Given the description of an element on the screen output the (x, y) to click on. 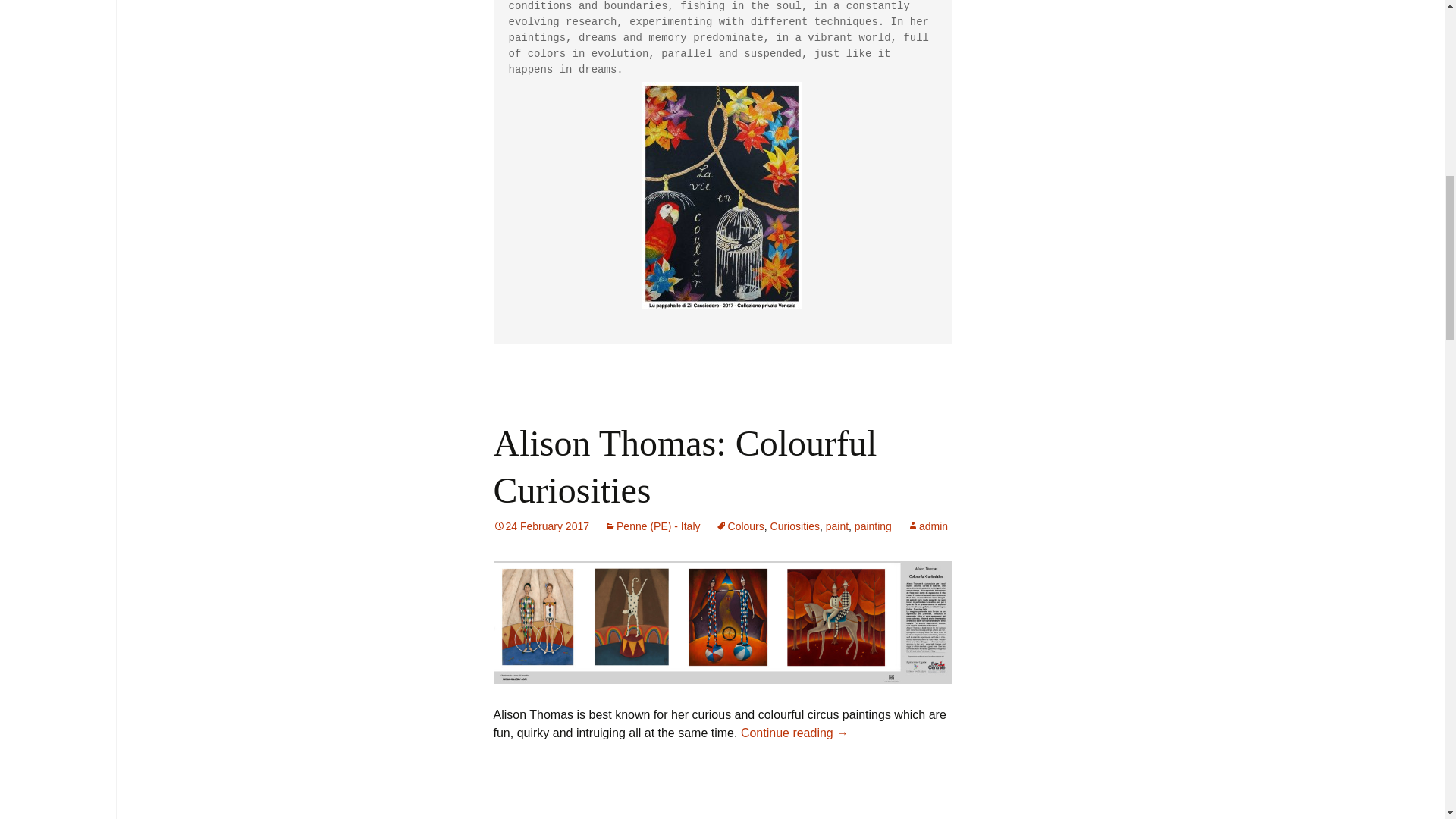
24 February 2017 (541, 526)
painting (872, 526)
Curiosities (794, 526)
Permalink to Alison Thomas: Colourful Curiosities (541, 526)
Colours (740, 526)
View all posts by admin (927, 526)
admin (927, 526)
paint (836, 526)
Alison Thomas: Colourful Curiosities (684, 466)
